Given the description of an element on the screen output the (x, y) to click on. 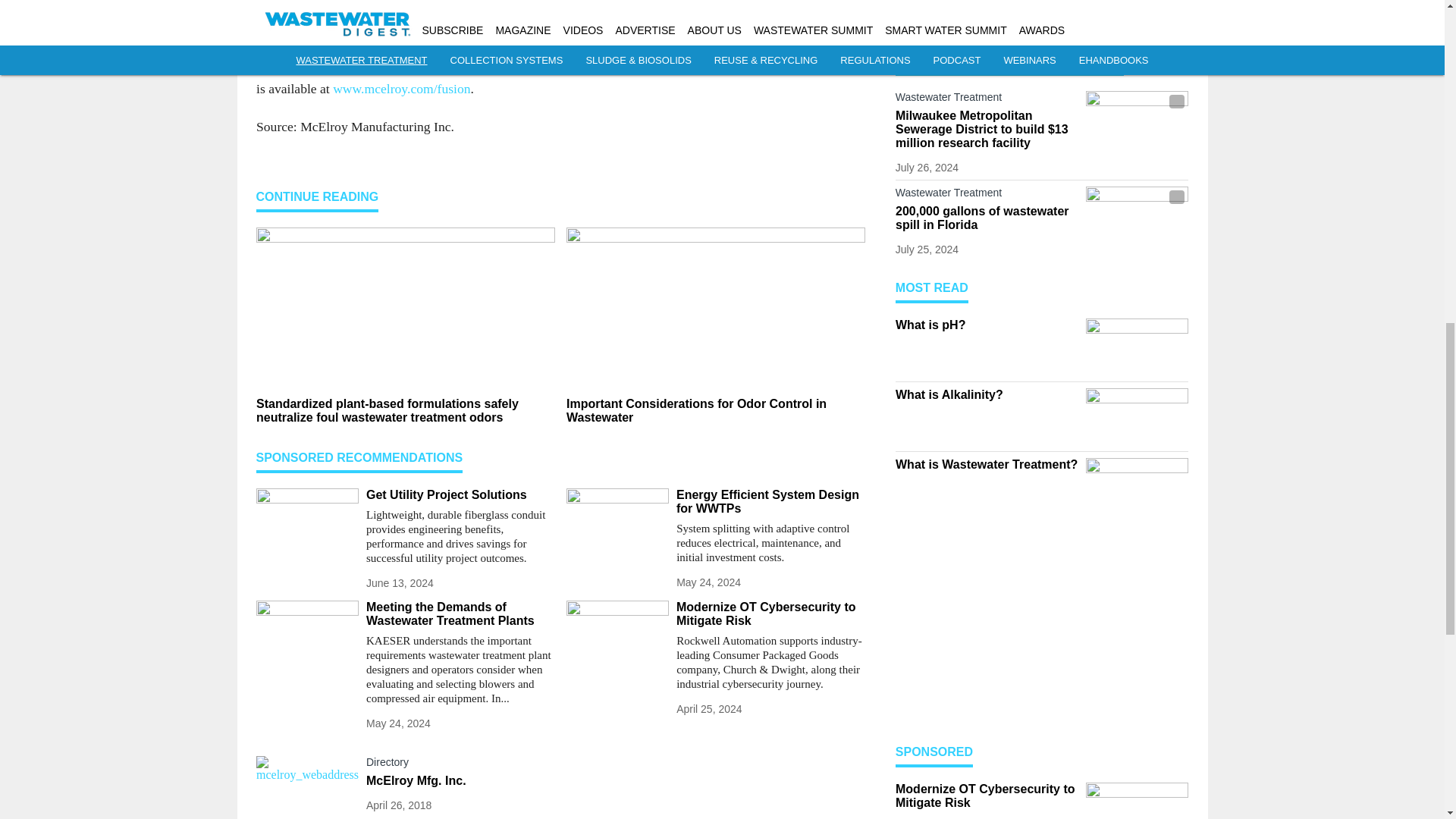
Modernize OT Cybersecurity to Mitigate Risk (770, 614)
Important Considerations for Odor Control in Wastewater (715, 411)
Directory (459, 764)
Energy Efficient System Design for WWTPs (770, 501)
Meeting the Demands of Wastewater Treatment Plants (459, 614)
Get Utility Project Solutions (459, 495)
